Given the description of an element on the screen output the (x, y) to click on. 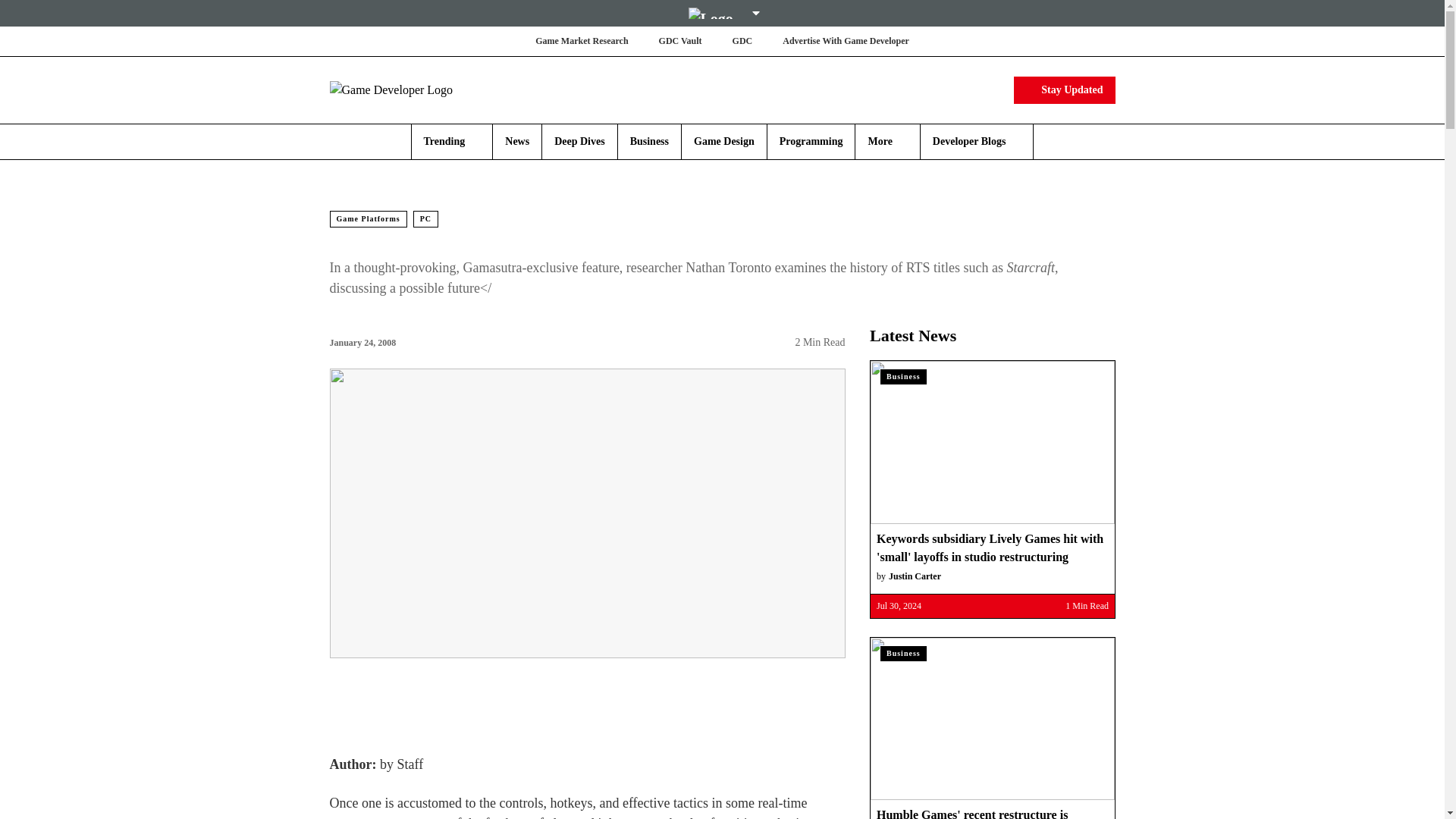
Game Developer Logo (419, 90)
Business (649, 141)
GDC (742, 41)
GDC Vault (680, 41)
Deep Dives (579, 141)
Programming (810, 141)
News (517, 141)
Game Design (724, 141)
Advertise With Game Developer (845, 41)
Game Market Research (581, 41)
Stay Updated (1064, 89)
